Given the description of an element on the screen output the (x, y) to click on. 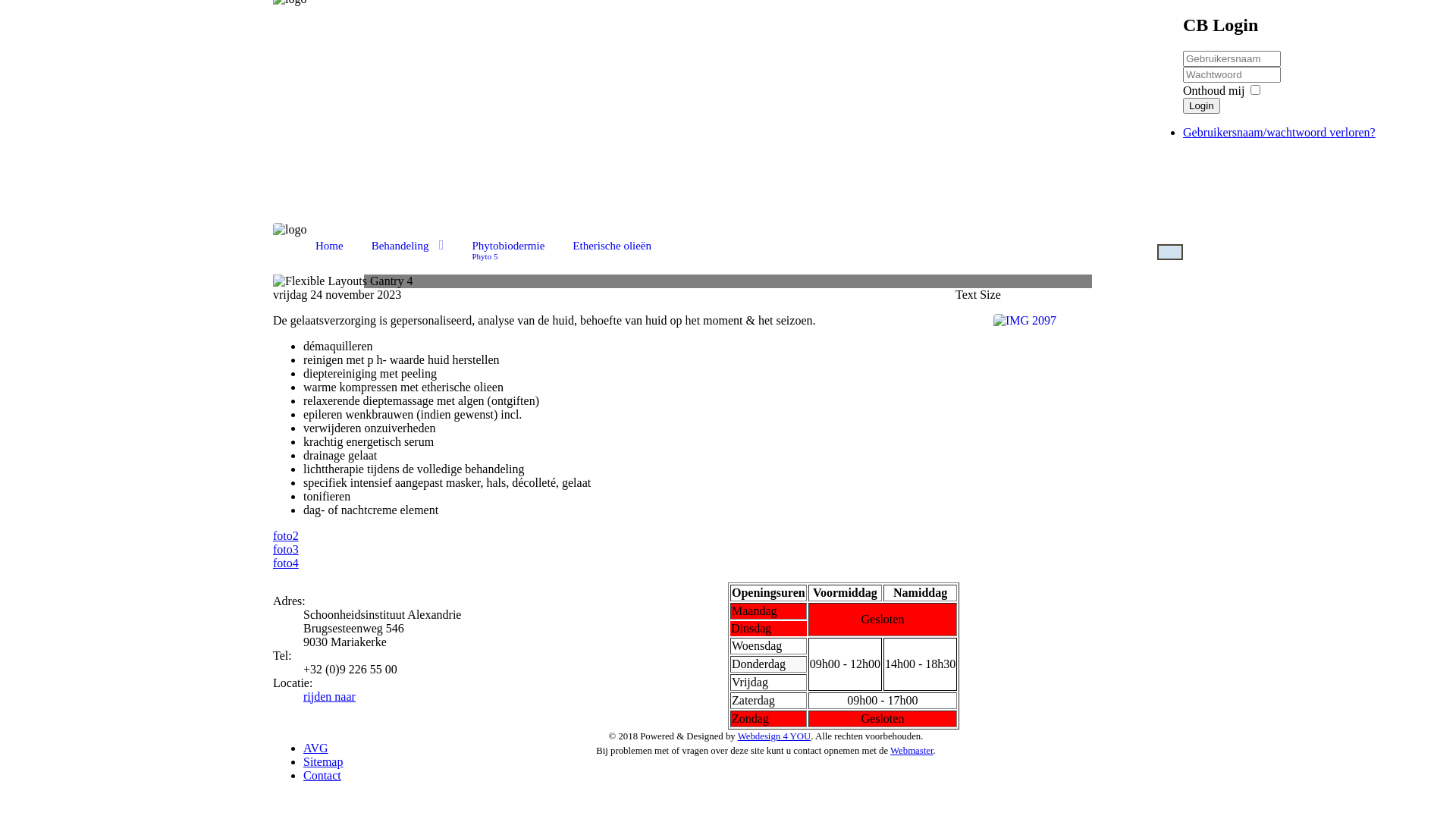
Sitemap Element type: text (322, 761)
Gebruikersnaam/wachtwoord verloren? Element type: text (1279, 131)
Login Element type: text (1201, 105)
Phytobiodermie
Phyto 5 Element type: text (508, 248)
AVG Element type: text (315, 747)
foto2 Element type: text (285, 535)
rijden naar Element type: text (329, 696)
Behandeling Element type: text (407, 244)
Home Element type: text (329, 244)
Webmaster Element type: text (911, 750)
Contact Element type: text (322, 774)
Webdesign 4 YOU Element type: text (774, 736)
foto4 Element type: text (285, 562)
foto3 Element type: text (285, 548)
